Given the description of an element on the screen output the (x, y) to click on. 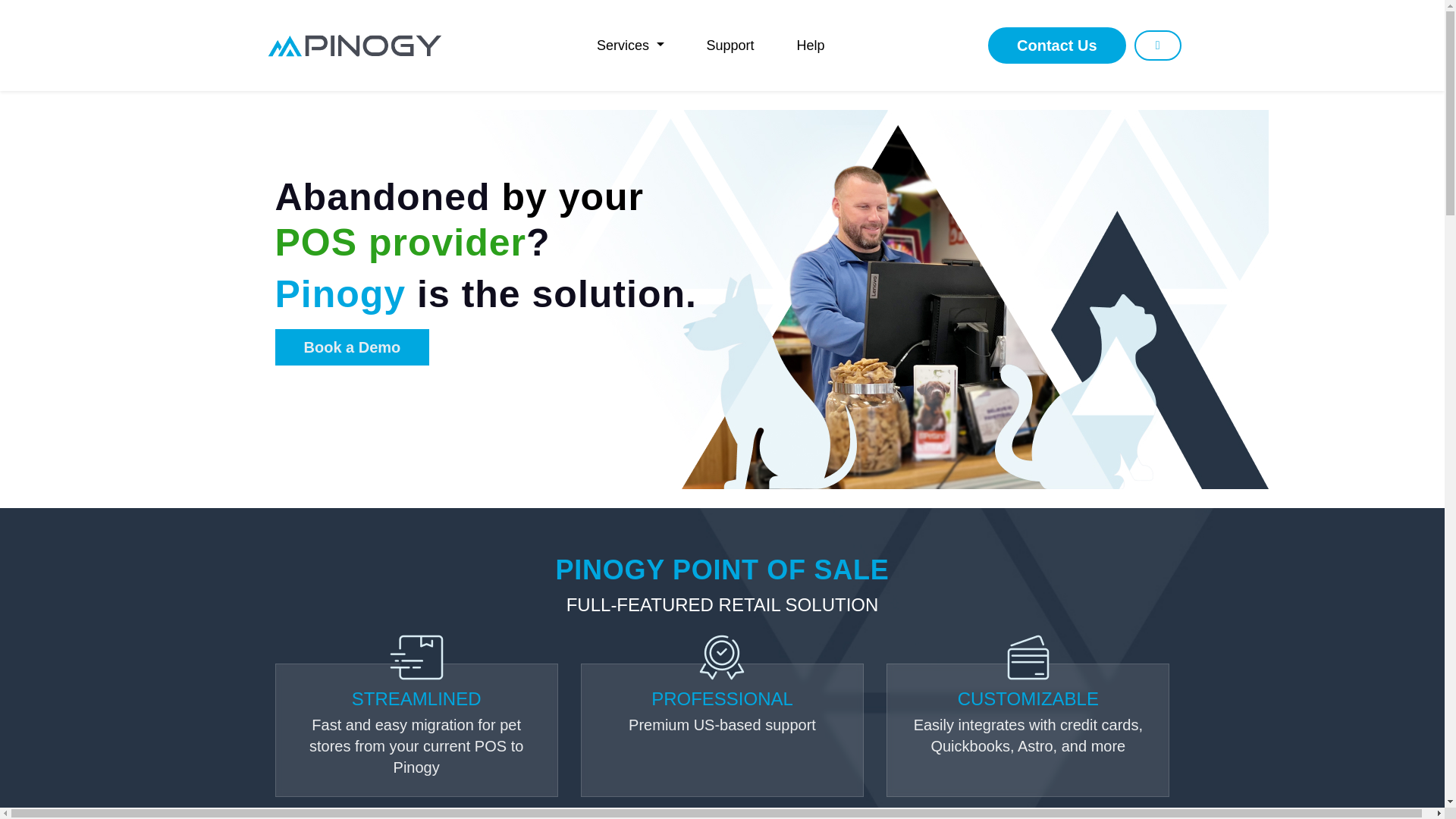
Contact Us (1056, 45)
Book a Demo (352, 347)
Services (630, 44)
Help (810, 44)
Pinogy Corporation (354, 45)
Sign in (1157, 45)
Support (730, 44)
